Given the description of an element on the screen output the (x, y) to click on. 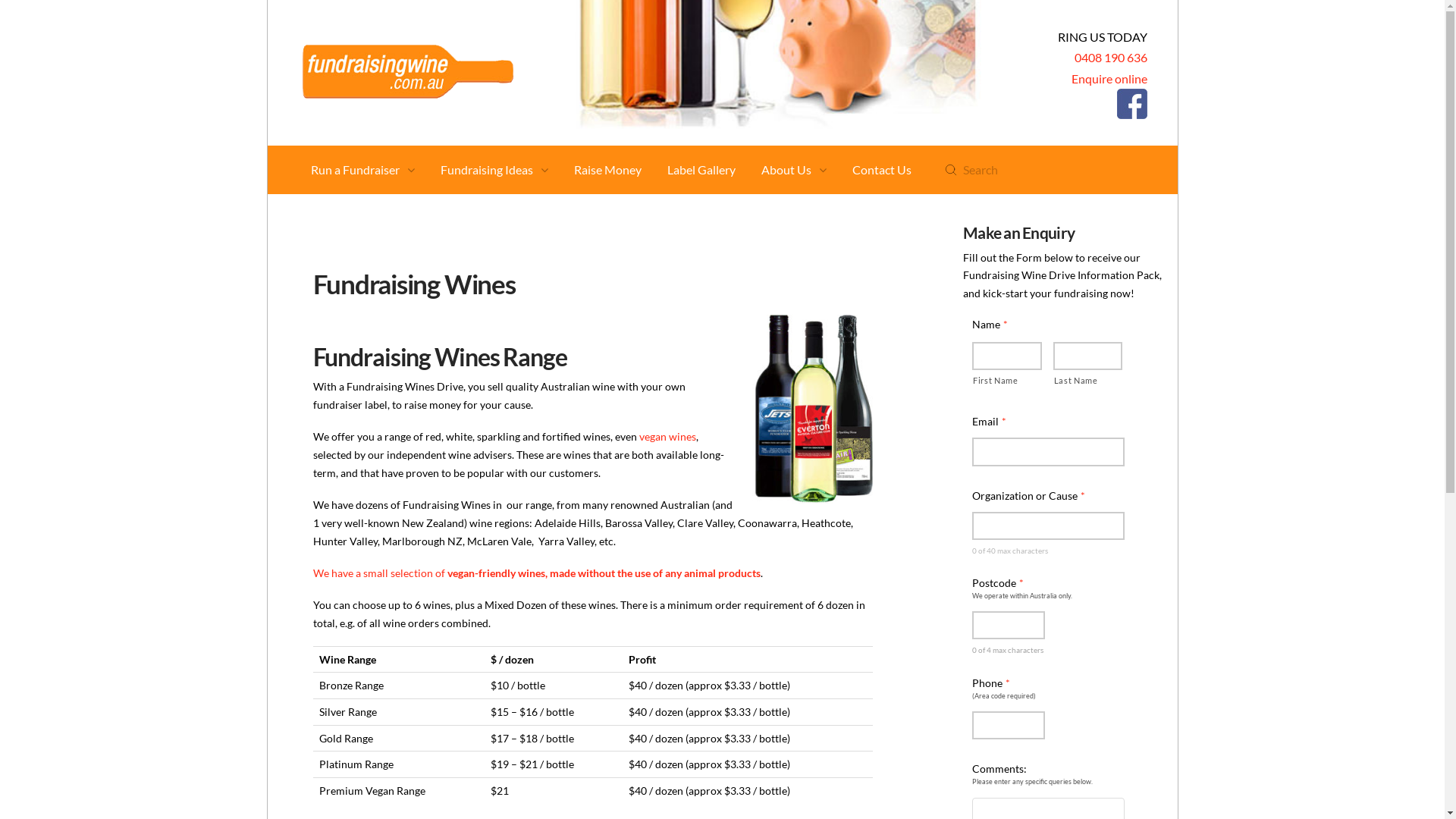
Run a Fundraiser Element type: text (362, 169)
Enquire online Element type: text (1108, 78)
Raise Money Element type: text (607, 169)
Label Gallery Element type: text (701, 169)
Submit Element type: text (950, 169)
Fundraising Ideas Element type: text (494, 169)
0408 190 636 Element type: text (1109, 57)
vegan wines Element type: text (666, 435)
About Us Element type: text (793, 169)
Contact Us Element type: text (881, 169)
